Given the description of an element on the screen output the (x, y) to click on. 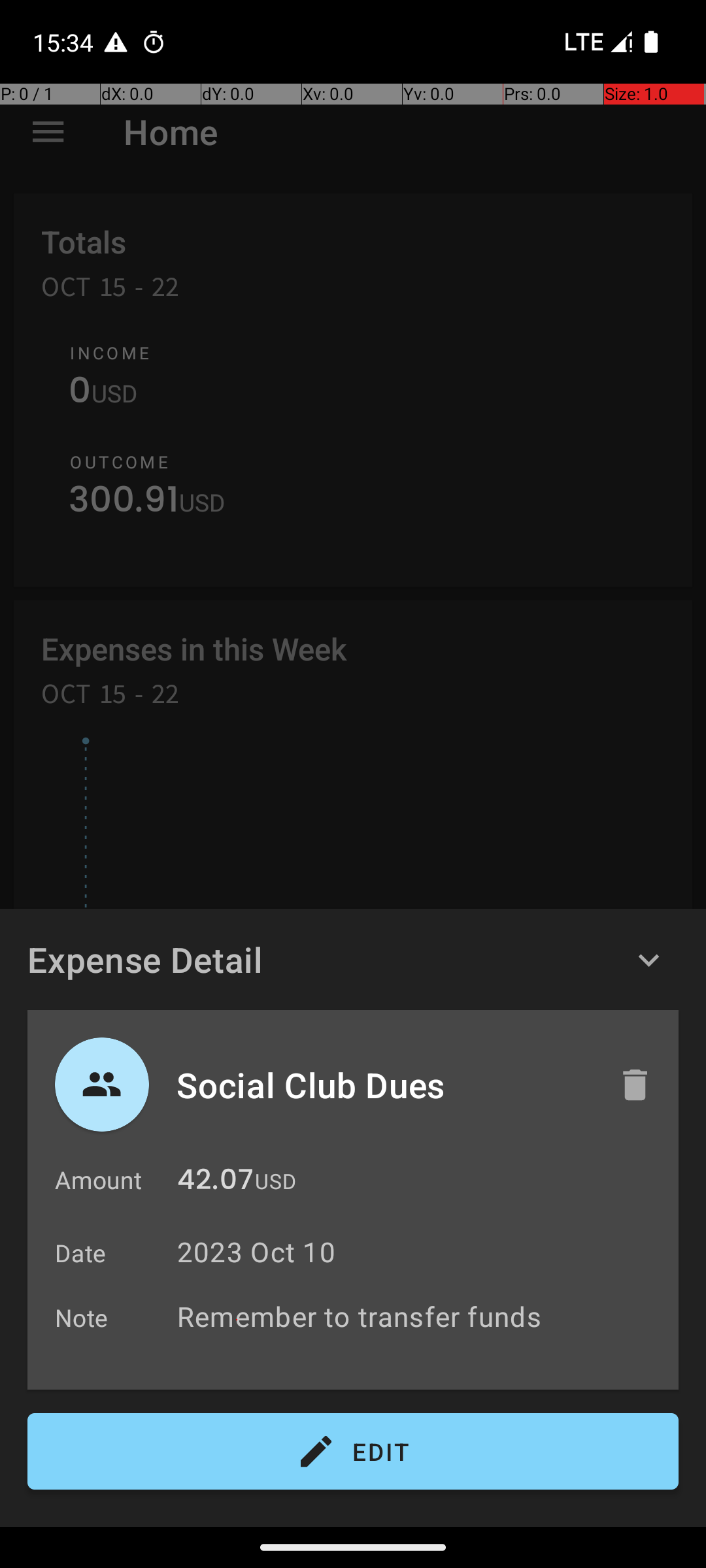
Expense Detail Element type: android.widget.TextView (145, 959)
Social Club Dues Element type: android.widget.TextView (383, 1084)
Amount Element type: android.widget.TextView (97, 1179)
42.07 Element type: android.widget.TextView (215, 1182)
USD Element type: android.widget.TextView (275, 1180)
Date Element type: android.widget.TextView (80, 1252)
2023 Oct 10 Element type: android.widget.TextView (256, 1251)
Note Element type: android.widget.TextView (81, 1317)
Remember to transfer funds Element type: android.widget.TextView (420, 1315)
EDIT Element type: android.widget.Button (352, 1451)
